Given the description of an element on the screen output the (x, y) to click on. 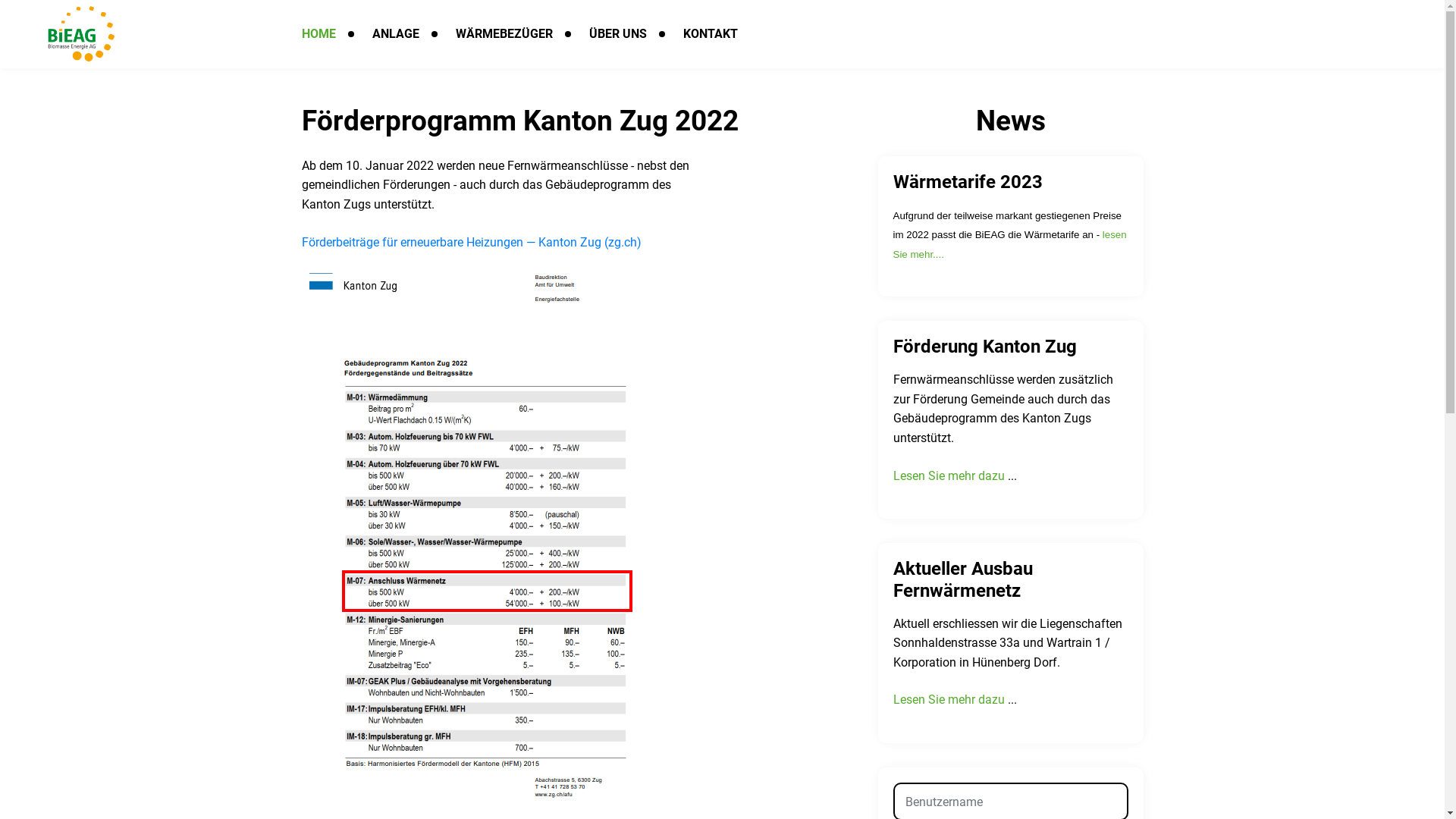
KONTAKT Element type: text (709, 34)
lesen Sie mehr.... Element type: text (1009, 244)
Lesen Sie mehr dazu Element type: text (948, 475)
Lesen Sie mehr dazu Element type: text (948, 699)
ANLAGE Element type: text (394, 34)
HOME Element type: text (318, 34)
